Given the description of an element on the screen output the (x, y) to click on. 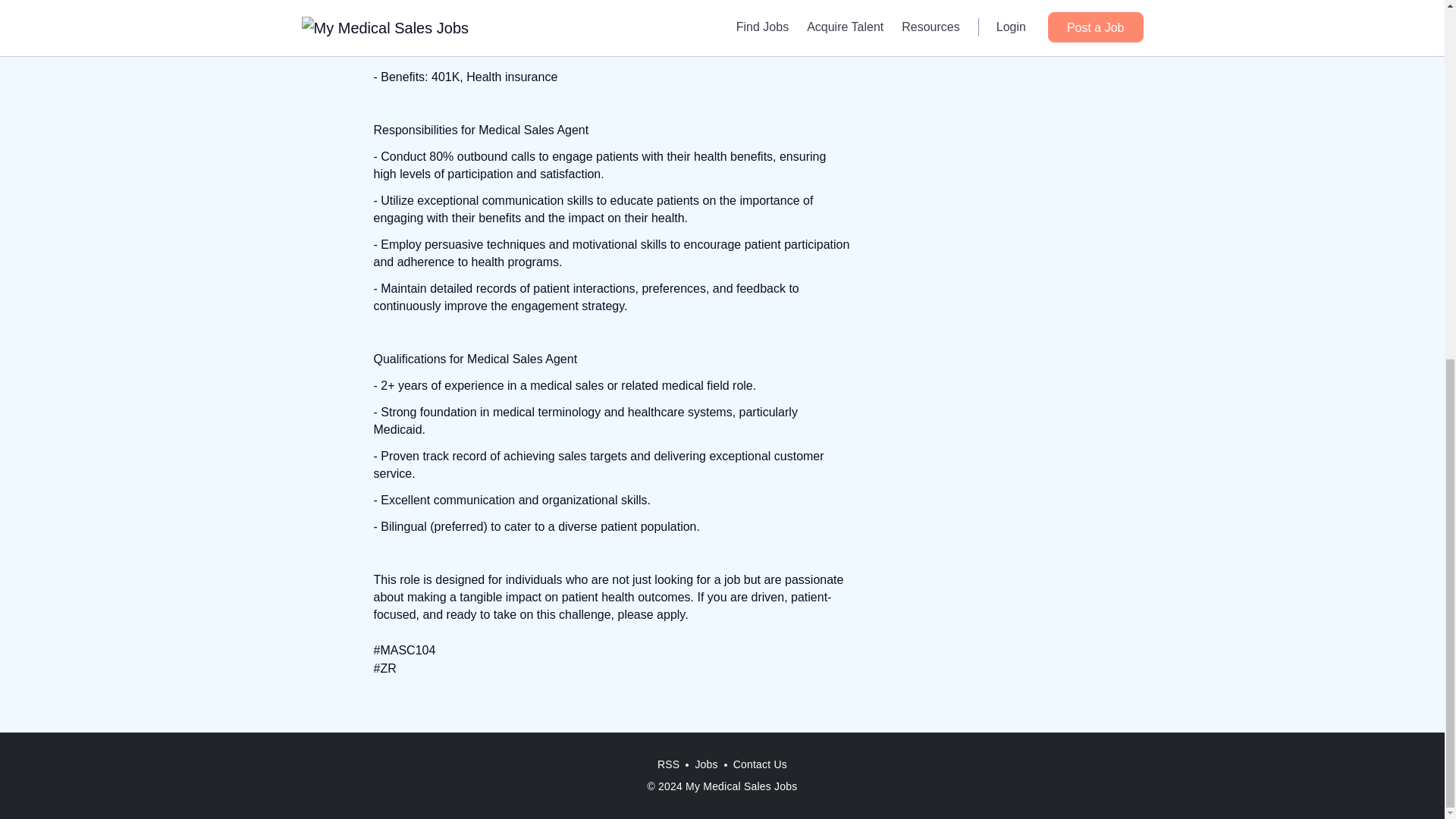
Jobs (706, 764)
Contact Us (759, 764)
RSS (668, 764)
